Given the description of an element on the screen output the (x, y) to click on. 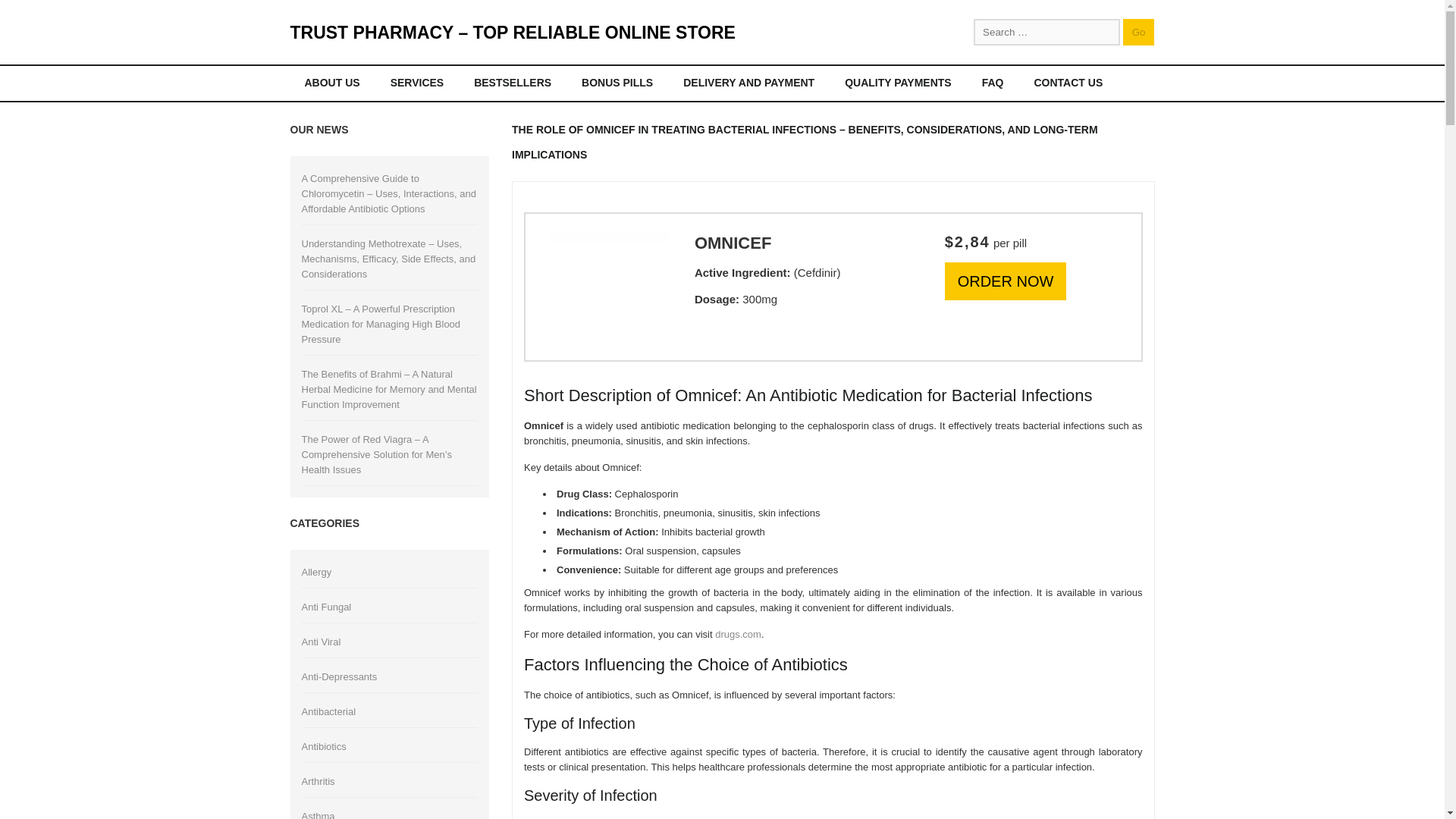
Allergy (316, 572)
Go (1138, 31)
BONUS PILLS (616, 82)
ABOUT US (331, 82)
SERVICES (416, 82)
Anti Viral (320, 641)
FAQ (992, 82)
Asthma (317, 814)
BESTSELLERS (512, 82)
Anti-Depressants (339, 676)
Antibacterial (328, 711)
DELIVERY AND PAYMENT (748, 82)
drugs.com (737, 633)
Anti Fungal (326, 606)
QUALITY PAYMENTS (897, 82)
